Given the description of an element on the screen output the (x, y) to click on. 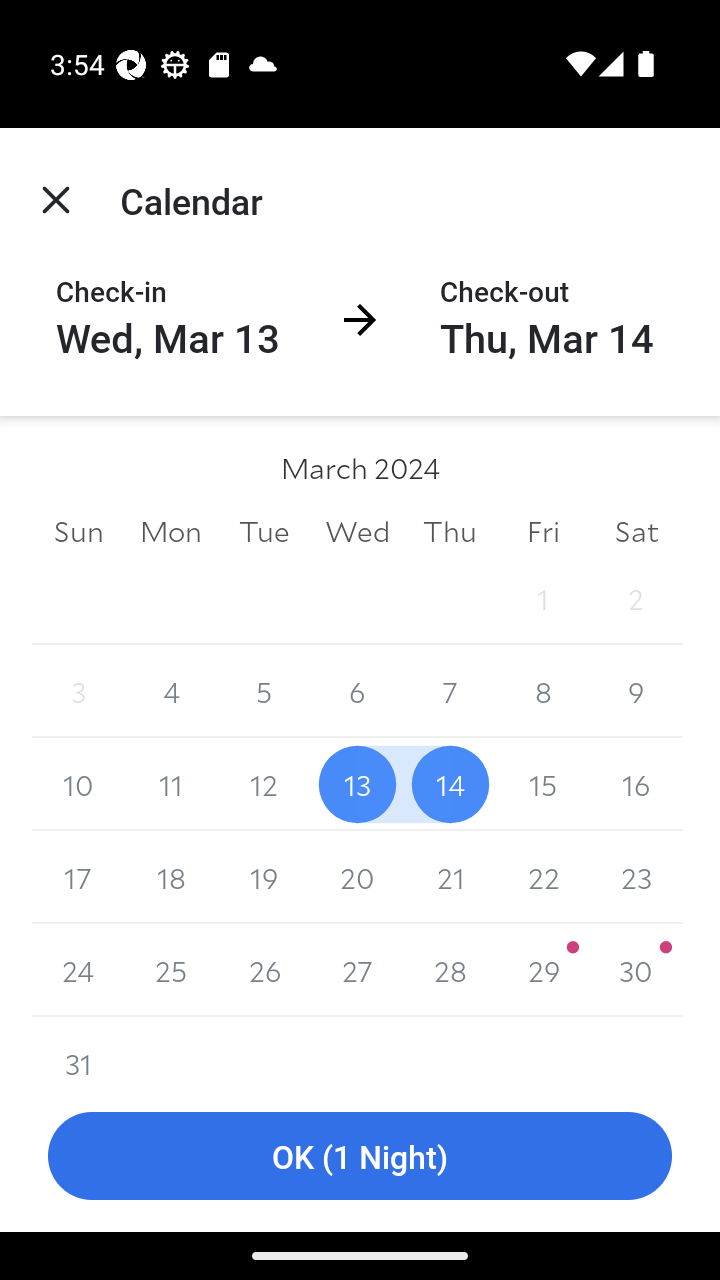
Sun (78, 530)
Mon (171, 530)
Tue (264, 530)
Wed (357, 530)
Thu (449, 530)
Fri (542, 530)
Sat (636, 530)
1 1 March 2024 (542, 598)
2 2 March 2024 (636, 598)
3 3 March 2024 (78, 691)
4 4 March 2024 (171, 691)
5 5 March 2024 (264, 691)
6 6 March 2024 (357, 691)
7 7 March 2024 (449, 691)
8 8 March 2024 (542, 691)
9 9 March 2024 (636, 691)
10 10 March 2024 (78, 784)
11 11 March 2024 (171, 784)
12 12 March 2024 (264, 784)
13 13 March 2024 (357, 784)
14 14 March 2024 (449, 784)
15 15 March 2024 (542, 784)
16 16 March 2024 (636, 784)
17 17 March 2024 (78, 877)
18 18 March 2024 (171, 877)
19 19 March 2024 (264, 877)
20 20 March 2024 (357, 877)
21 21 March 2024 (449, 877)
22 22 March 2024 (542, 877)
23 23 March 2024 (636, 877)
24 24 March 2024 (78, 970)
25 25 March 2024 (171, 970)
26 26 March 2024 (264, 970)
27 27 March 2024 (357, 970)
28 28 March 2024 (449, 970)
29 29 March 2024 (542, 970)
30 30 March 2024 (636, 970)
31 31 March 2024 (78, 1048)
OK (1 Night) (359, 1156)
